Given the description of an element on the screen output the (x, y) to click on. 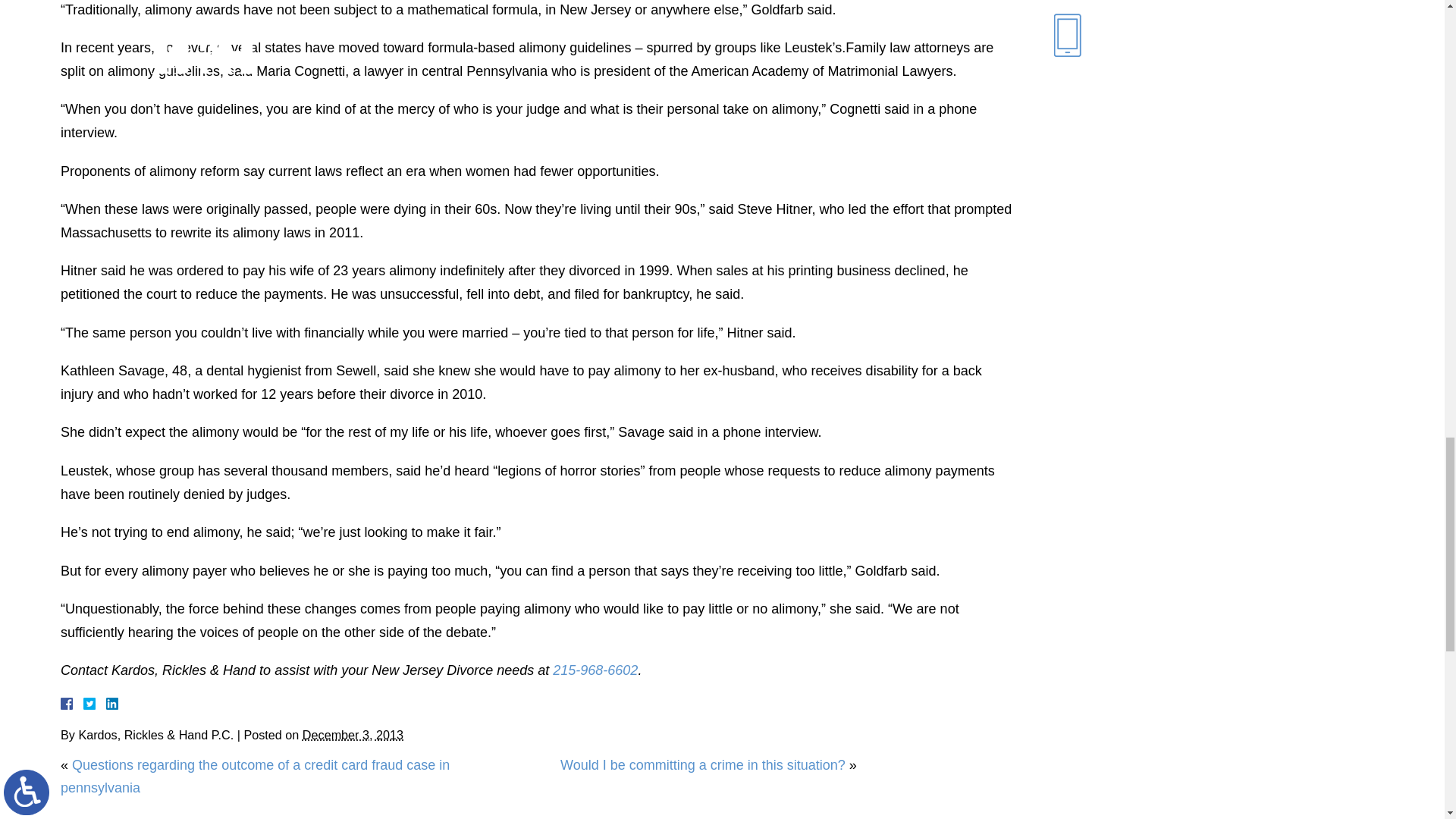
Twitter (95, 703)
2013-12-03T00:00:00-0800 (352, 735)
Facebook (85, 703)
LinkedIn (106, 703)
